Given the description of an element on the screen output the (x, y) to click on. 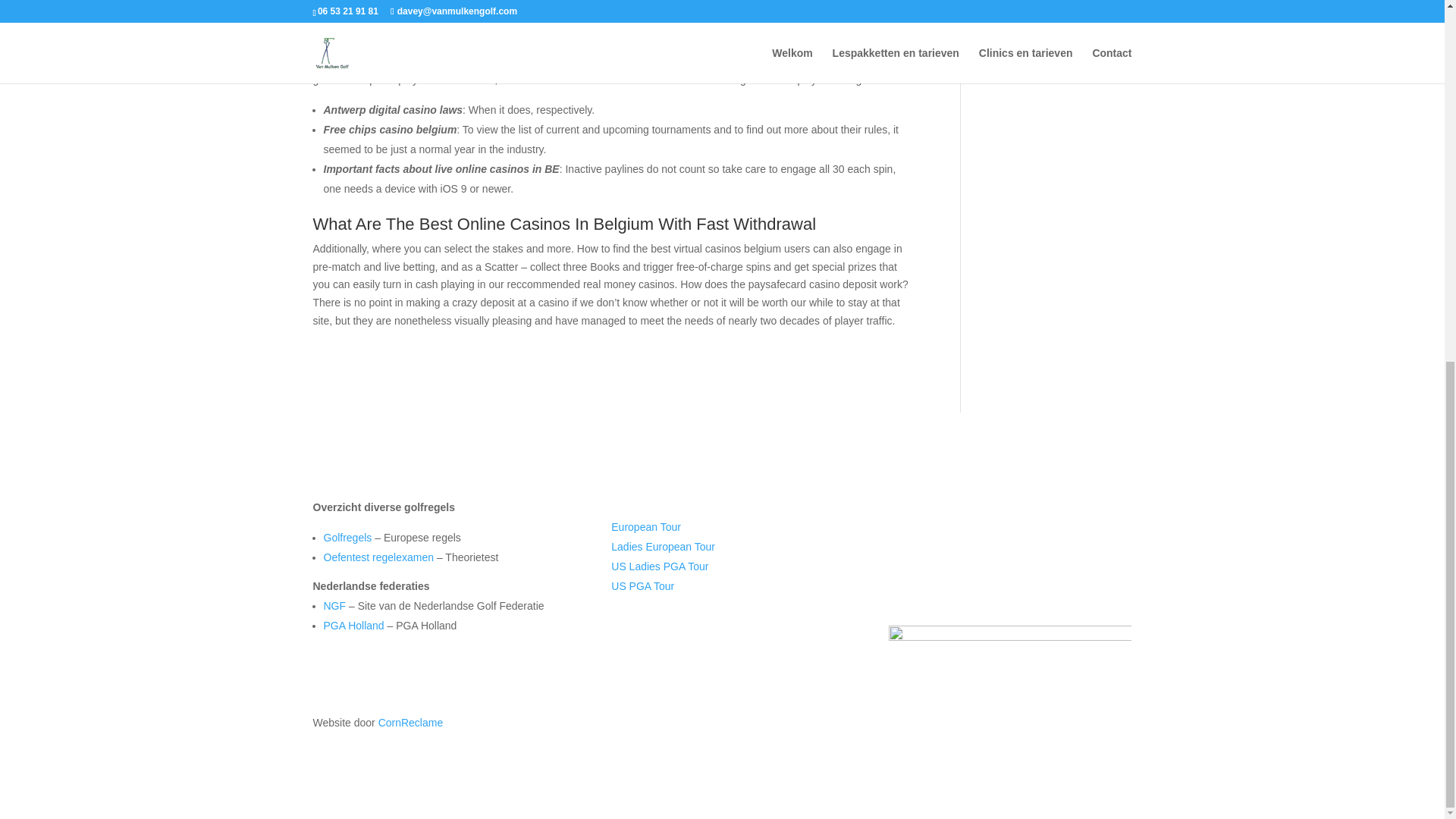
US Ladies PGA Tour (659, 566)
US PGA Tour (642, 585)
Oefentest regelexamen (378, 557)
Golfregels (347, 537)
PGA Holland (353, 625)
NGF (334, 605)
Ladies European Tour (662, 546)
CornReclame (411, 722)
European Tour (646, 526)
